Given the description of an element on the screen output the (x, y) to click on. 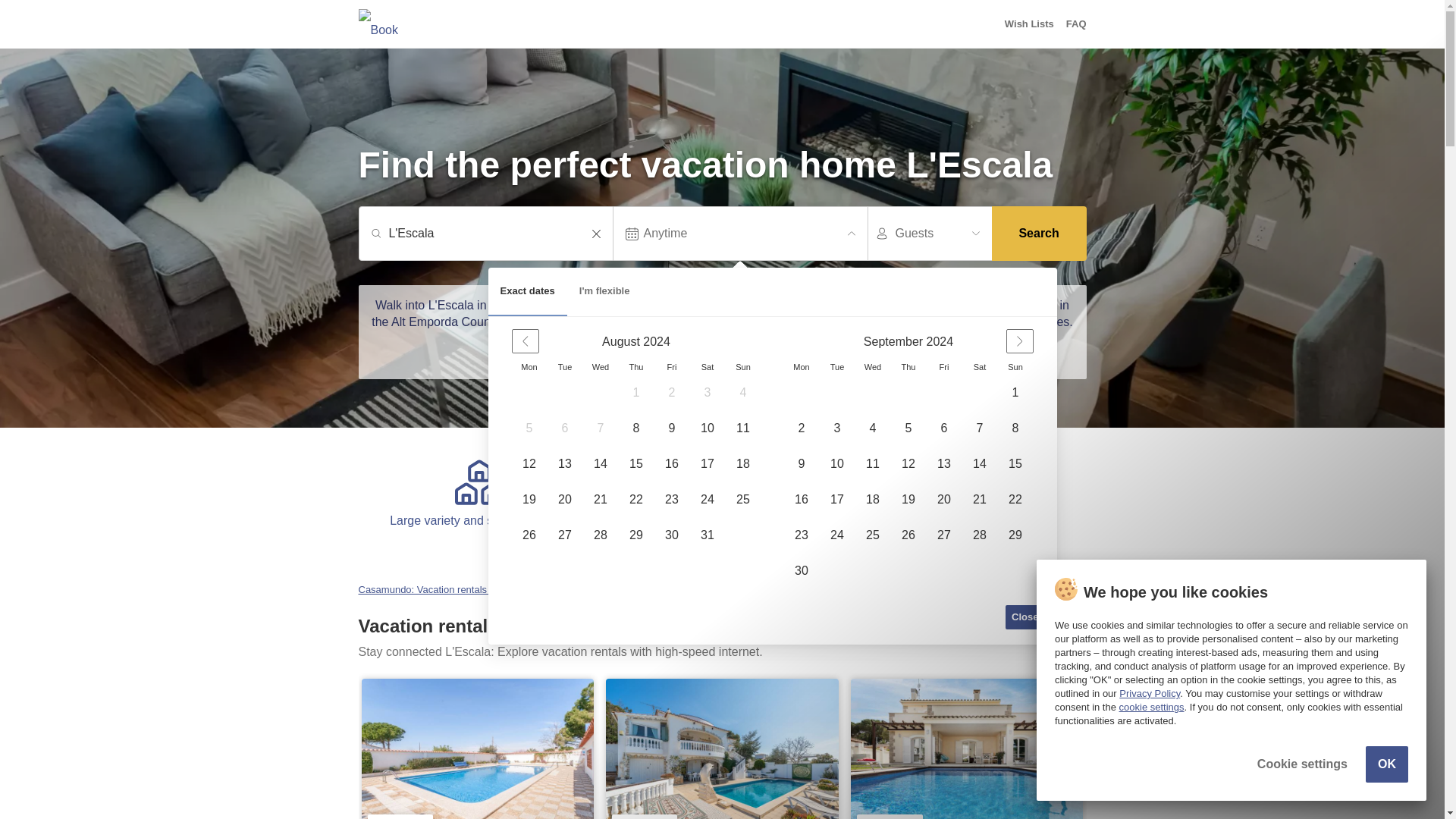
Tue (564, 366)
Wed (872, 366)
Sat (707, 366)
Wish Lists (1029, 24)
Spain (513, 589)
L'Escala (493, 233)
Mon (801, 366)
L'Escala (493, 233)
Privacy Policy (1149, 693)
Thu (908, 366)
cookie settings (1152, 706)
Casamundo: Vacation rentals (423, 589)
Cookie settings (1302, 764)
Close (1024, 617)
Tue (836, 366)
